Given the description of an element on the screen output the (x, y) to click on. 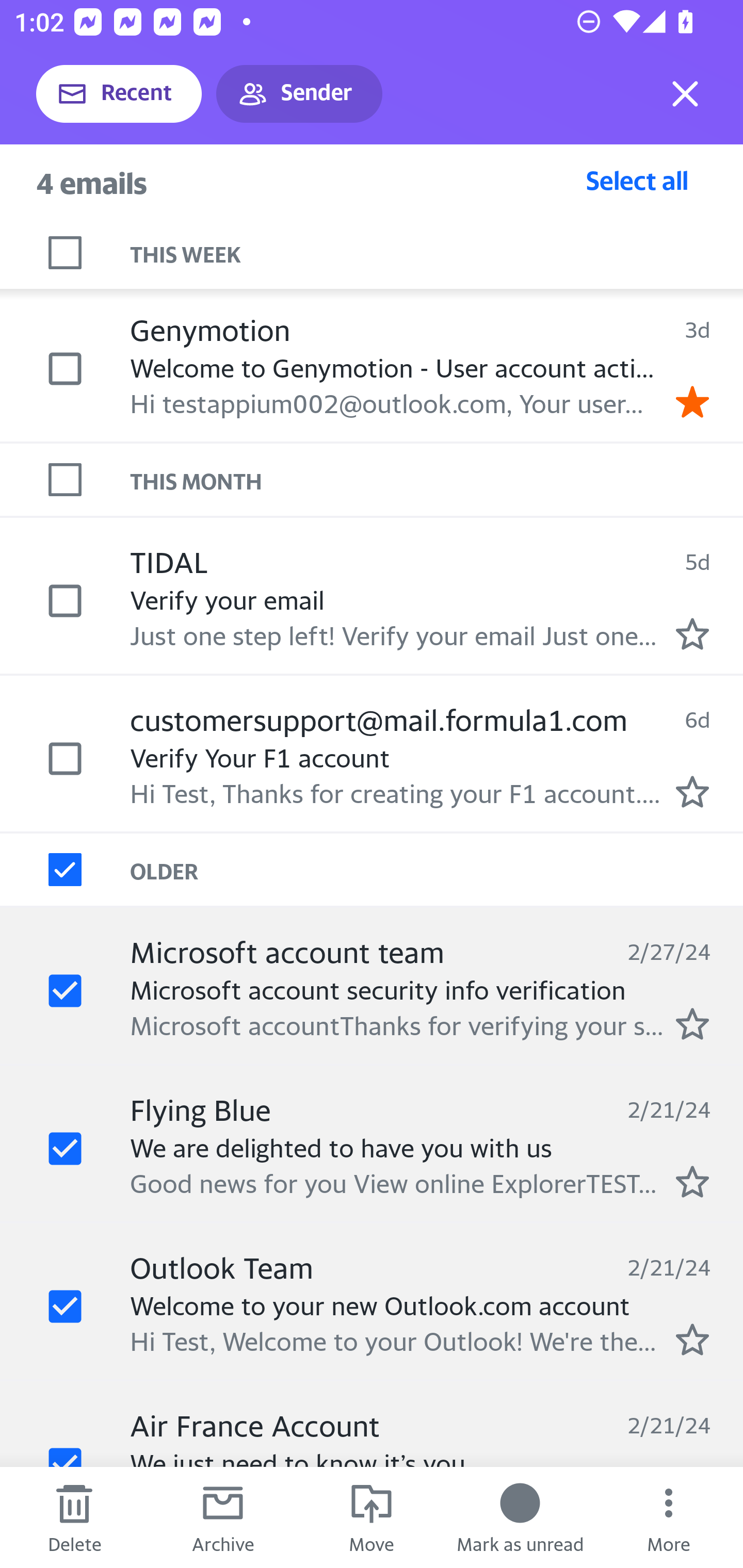
Sender (299, 93)
Exit selection mode (684, 93)
Select all (637, 180)
Remove star. (692, 402)
THIS MONTH (436, 478)
Mark as starred. (692, 634)
Mark as starred. (692, 791)
OLDER (436, 869)
Mark as starred. (692, 1023)
Mark as starred. (692, 1181)
Mark as starred. (692, 1339)
Delete (74, 1517)
Archive (222, 1517)
Move (371, 1517)
Mark as unread (519, 1517)
More (668, 1517)
